Given the description of an element on the screen output the (x, y) to click on. 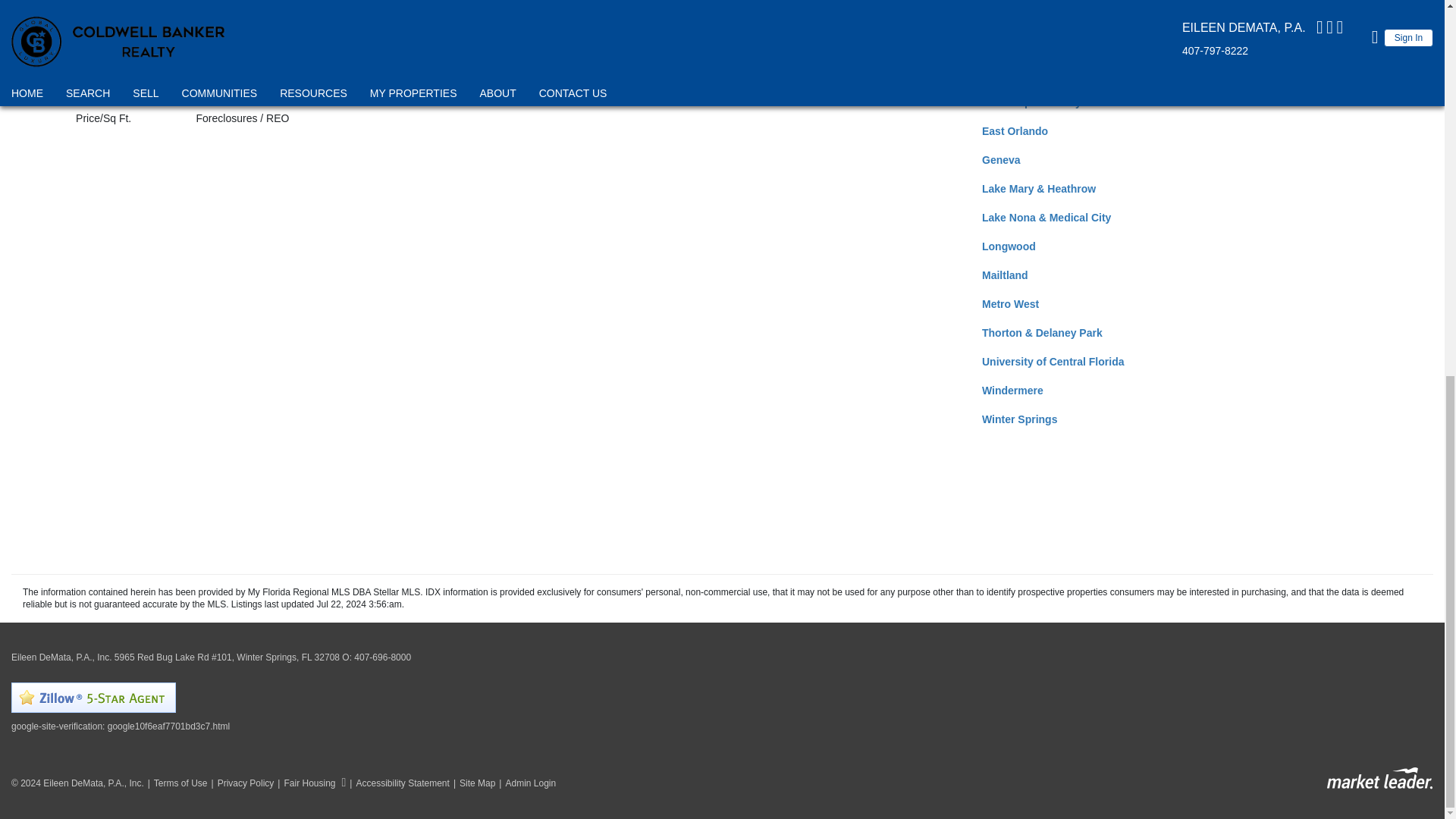
Dr. Phillips and Bayhill (1038, 102)
Casselberry (1011, 15)
Mailtland (1004, 275)
Powered By Market Leader (1379, 778)
Metro West (1010, 304)
East Orlando (1014, 131)
Geneva (1000, 159)
Deland (999, 73)
Longwood (1008, 246)
Daytona Beach (1019, 44)
